Given the description of an element on the screen output the (x, y) to click on. 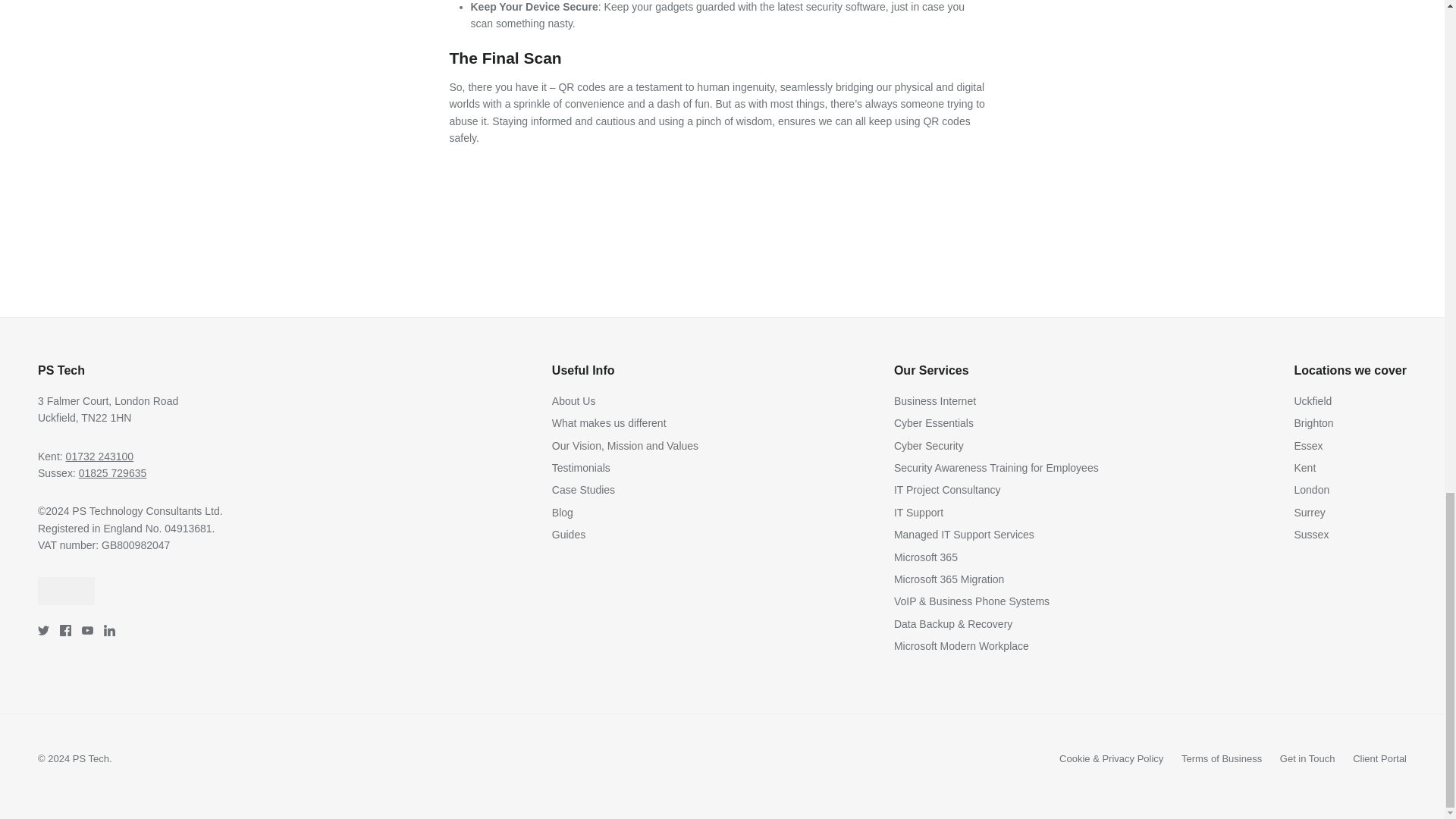
Facebook (65, 630)
Youtube (87, 630)
Twitter (43, 630)
